Given the description of an element on the screen output the (x, y) to click on. 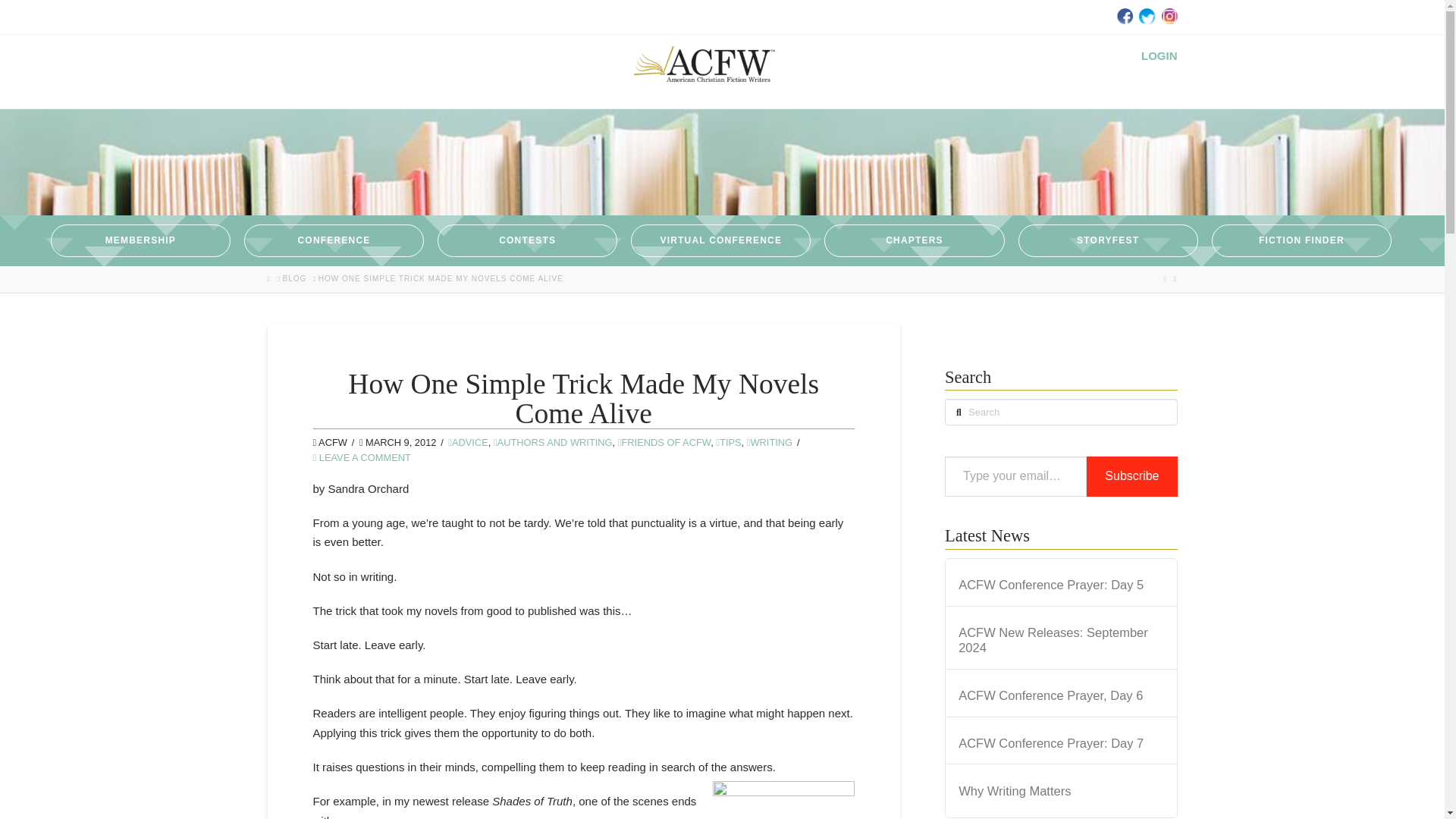
Facebook (1124, 15)
You Are Here (440, 278)
Instagram (1168, 15)
LOGIN (1159, 55)
